Given the description of an element on the screen output the (x, y) to click on. 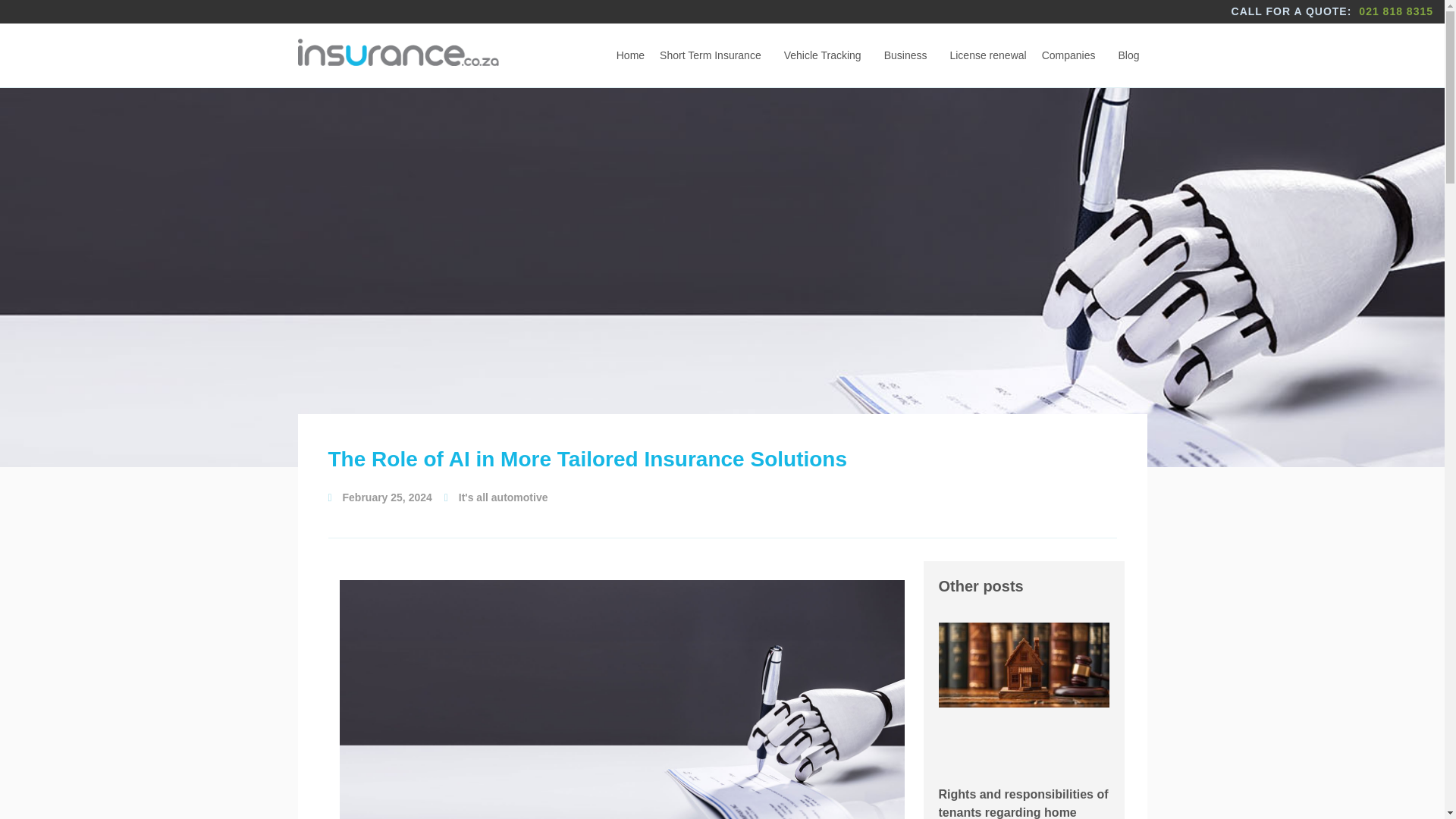
Business (909, 55)
Home (630, 55)
License renewal (987, 55)
Companies (1071, 55)
Vehicle Tracking (826, 55)
021 818 8315 (1391, 10)
Short Term Insurance (714, 55)
Short-Term Insurance Products (714, 55)
